Given the description of an element on the screen output the (x, y) to click on. 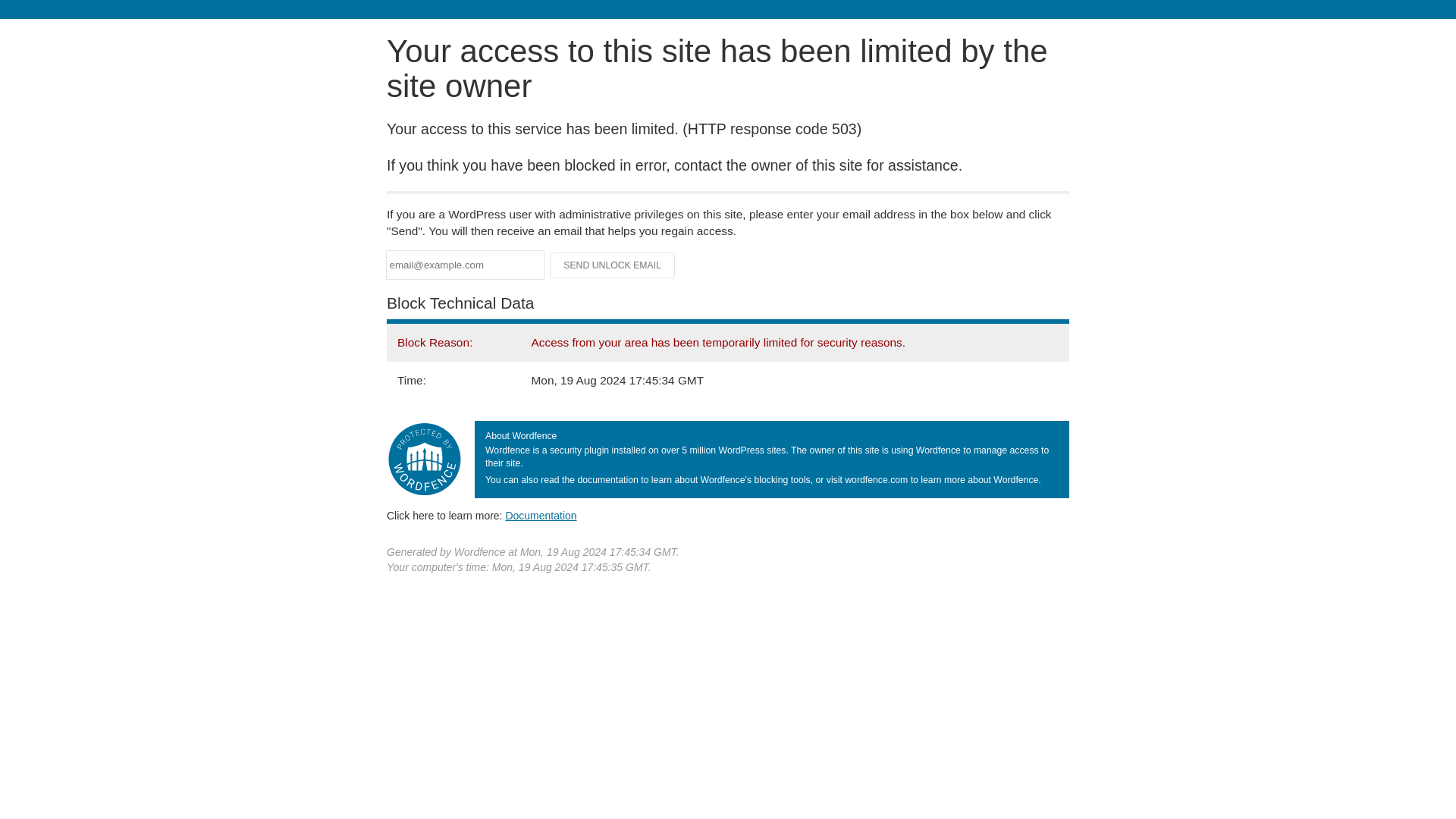
Documentation (540, 515)
Send Unlock Email (612, 265)
Send Unlock Email (612, 265)
